Given the description of an element on the screen output the (x, y) to click on. 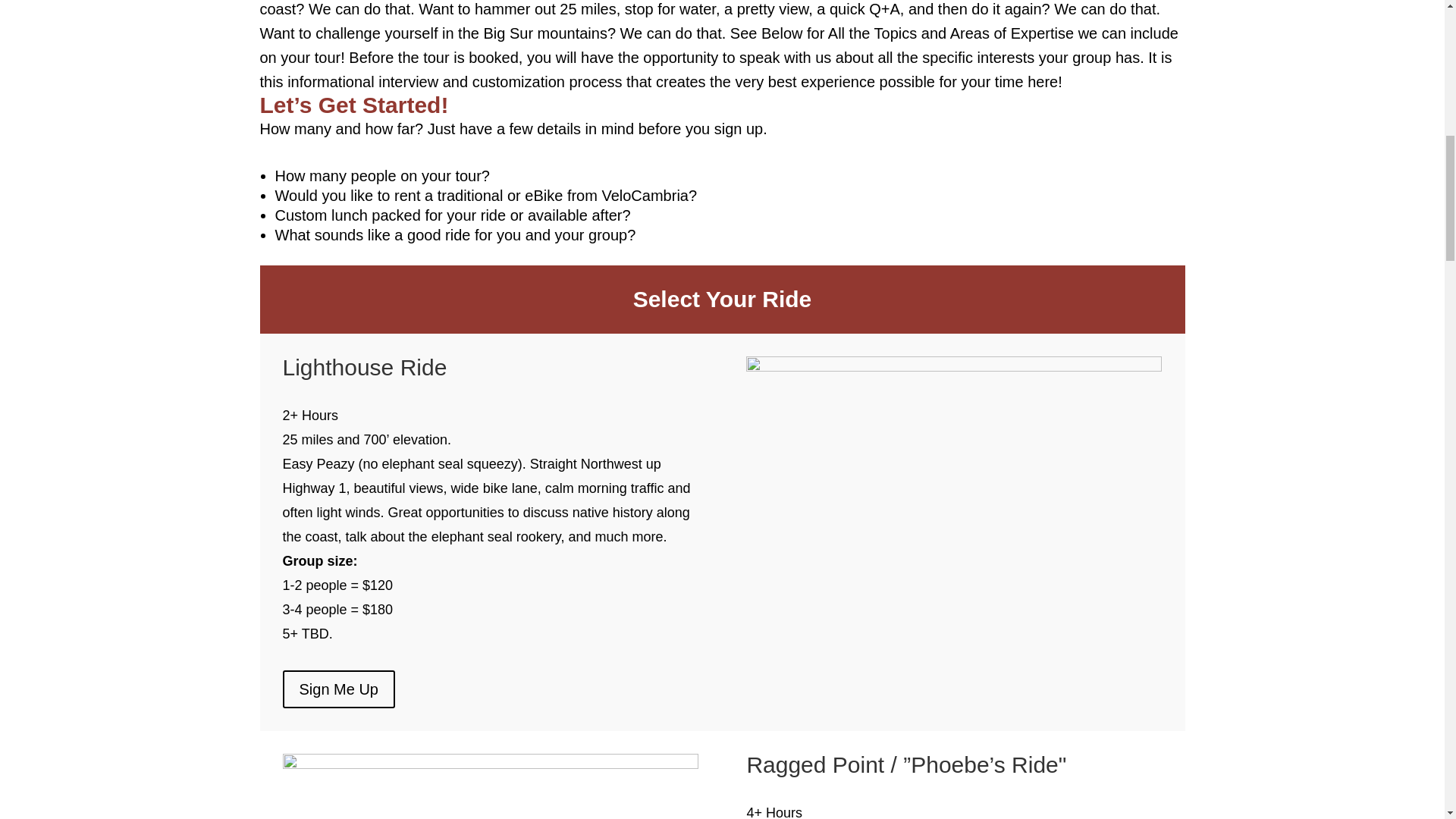
image8 (489, 764)
image4 (953, 367)
Sign Me Up (338, 689)
